Given the description of an element on the screen output the (x, y) to click on. 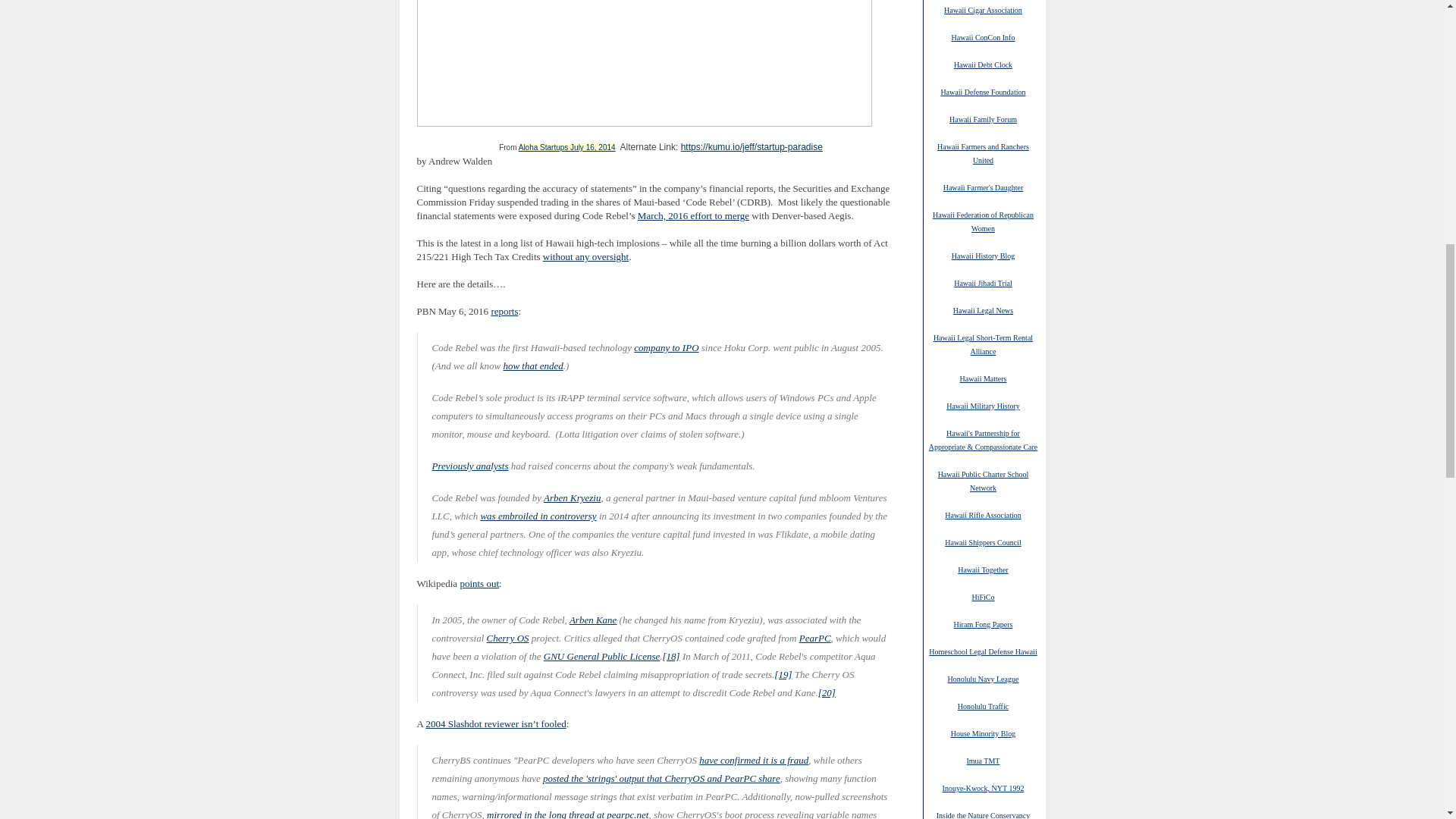
PearPC (815, 636)
mirrored in the long thread at pearpc.net (566, 812)
have confirmed it is a fraud (753, 759)
without any oversight (585, 256)
Previously analysts (470, 464)
Aloha Startups July 16, 2014 (566, 147)
how that ended (532, 364)
reports (504, 311)
points out (479, 583)
March, 2016 effort to merge (693, 215)
Arben Kane (592, 618)
was embroiled in controversy (537, 514)
GNU General Public License (601, 655)
company to IPO (665, 346)
posted the 'strings' output that CherryOS and PearPC share (661, 777)
